Given the description of an element on the screen output the (x, y) to click on. 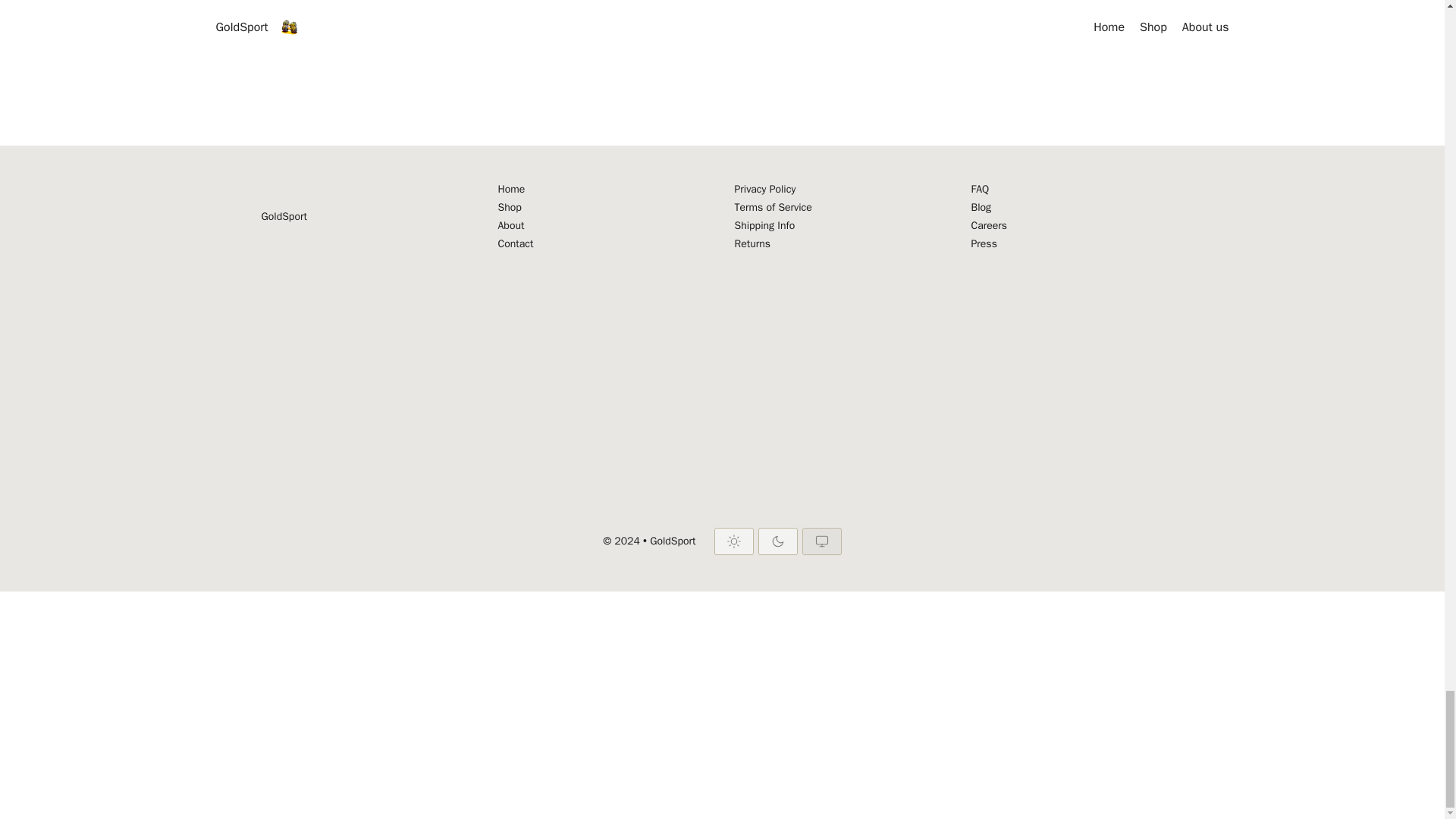
Careers (1076, 225)
Press (1076, 243)
Home (603, 189)
Shop (603, 207)
Terms of Service (839, 207)
Blog (1076, 207)
GoldSport (282, 216)
Returns (839, 243)
Shipping Info (839, 225)
About (603, 225)
